Given the description of an element on the screen output the (x, y) to click on. 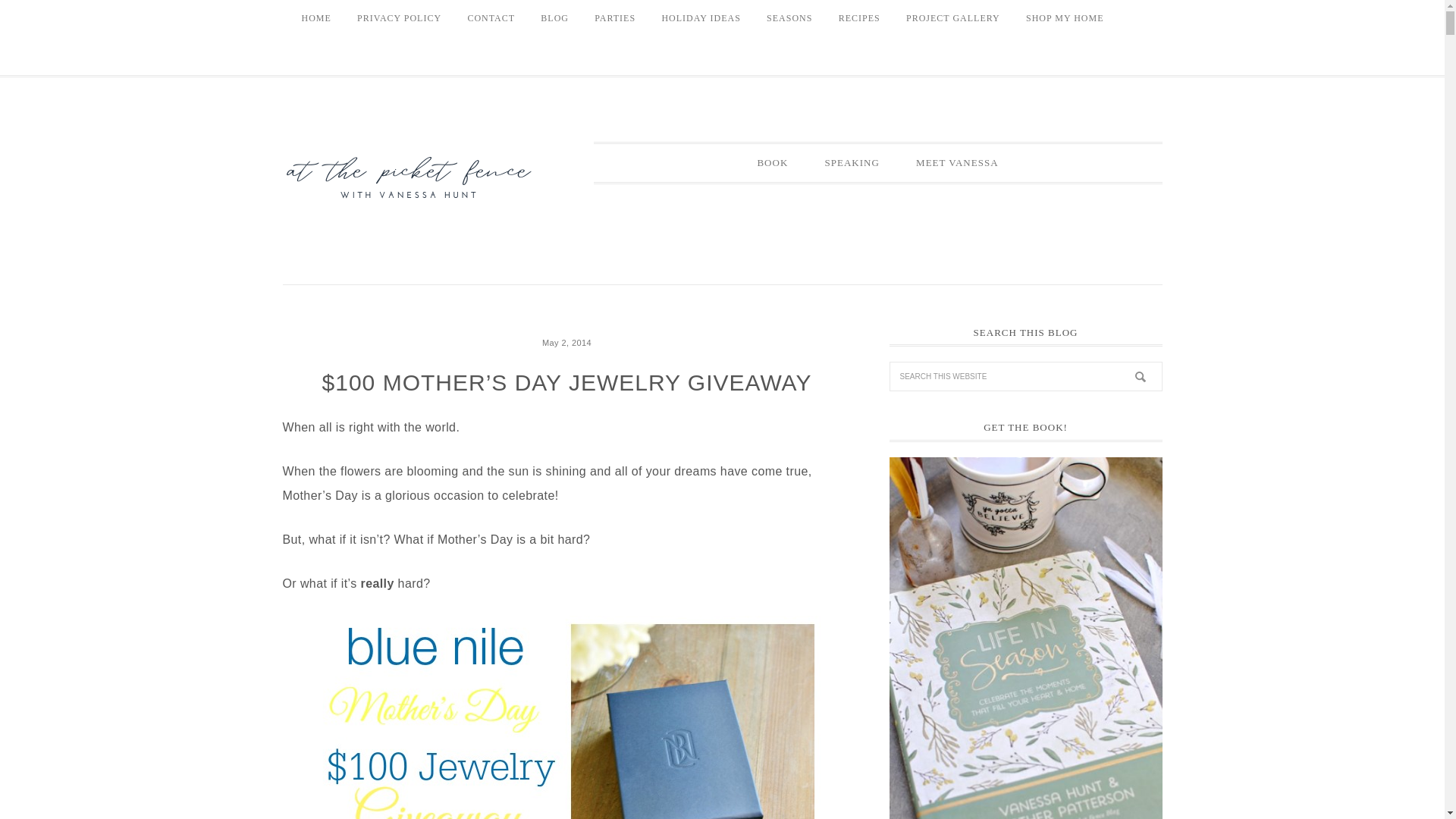
SEASONS (789, 18)
SHOP MY HOME (1064, 18)
RECIPES (859, 18)
CONTACT (490, 18)
HOME (315, 18)
PROJECT GALLERY (953, 18)
PARTIES (614, 18)
BLOG (554, 18)
PRIVACY POLICY (399, 18)
HOLIDAY IDEAS (700, 18)
